Given the description of an element on the screen output the (x, y) to click on. 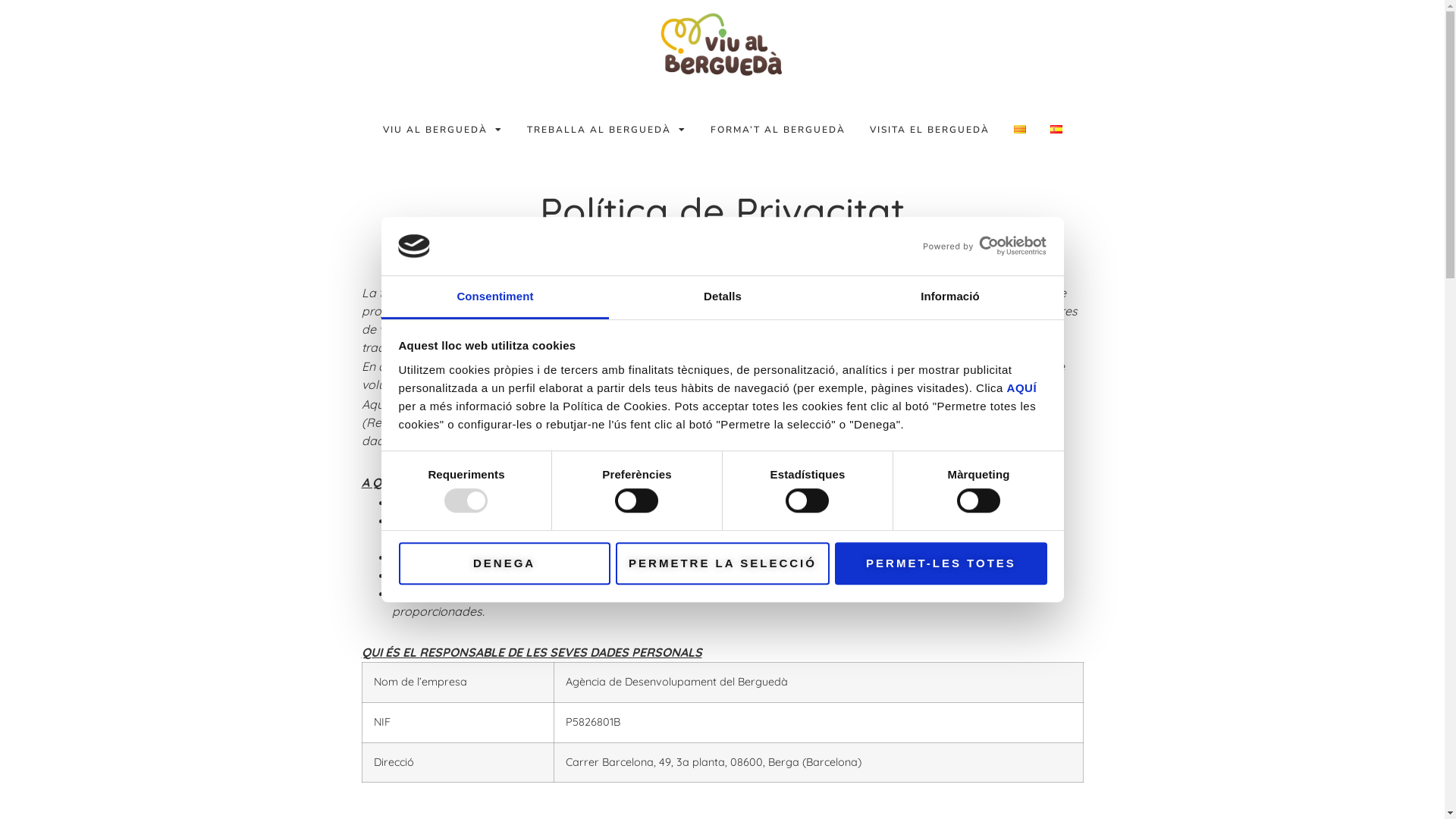
Detalls Element type: text (721, 297)
DENEGA Element type: text (503, 563)
PERMET-LES TOTES Element type: text (940, 563)
Consentiment Element type: text (494, 297)
